Given the description of an element on the screen output the (x, y) to click on. 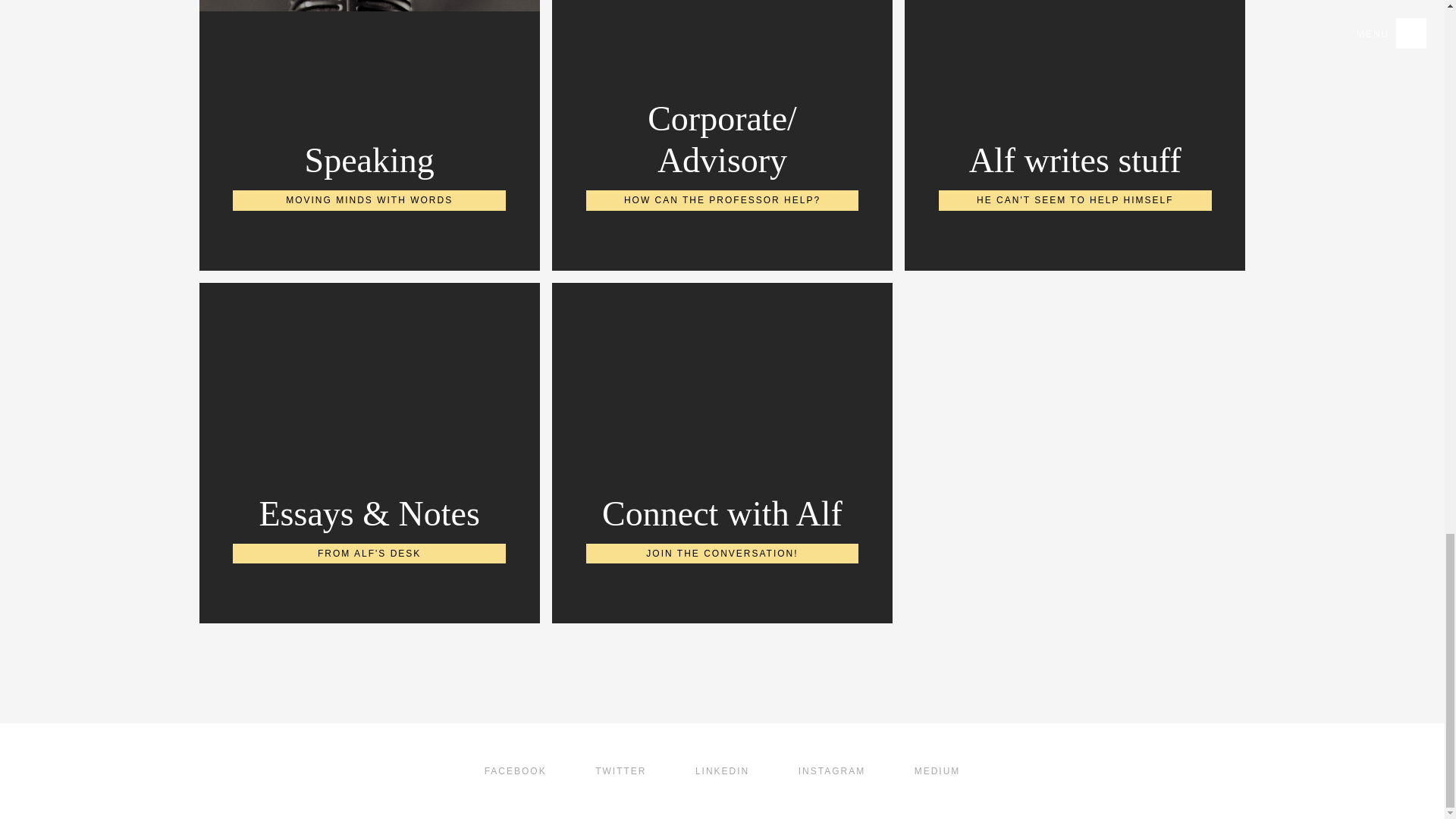
FACEBOOK (515, 810)
MEDIUM (1074, 155)
INSTAGRAM (368, 155)
LINKEDIN (937, 810)
TWITTER (830, 810)
